Given the description of an element on the screen output the (x, y) to click on. 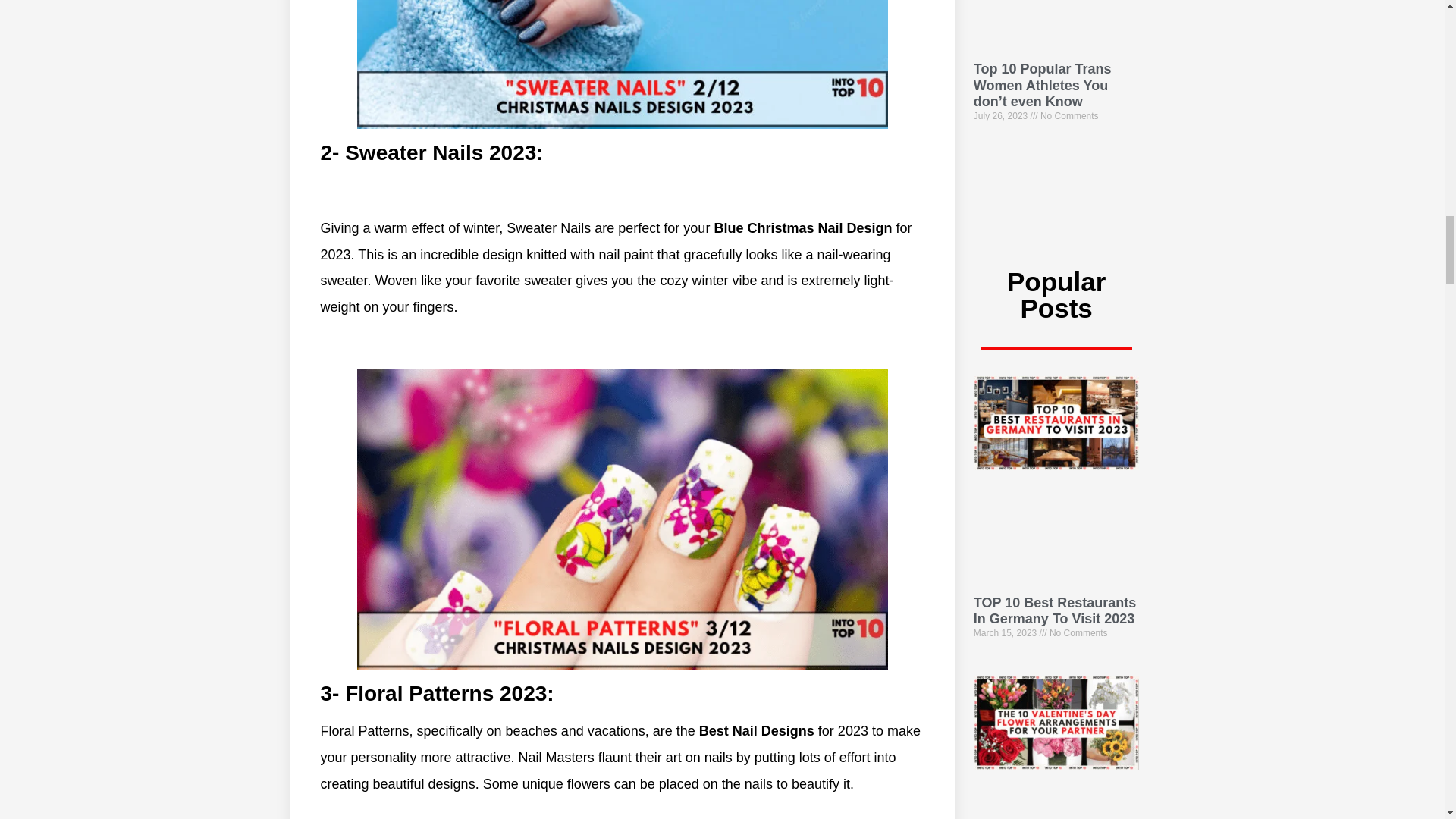
Sweater Nails (622, 64)
